Given the description of an element on the screen output the (x, y) to click on. 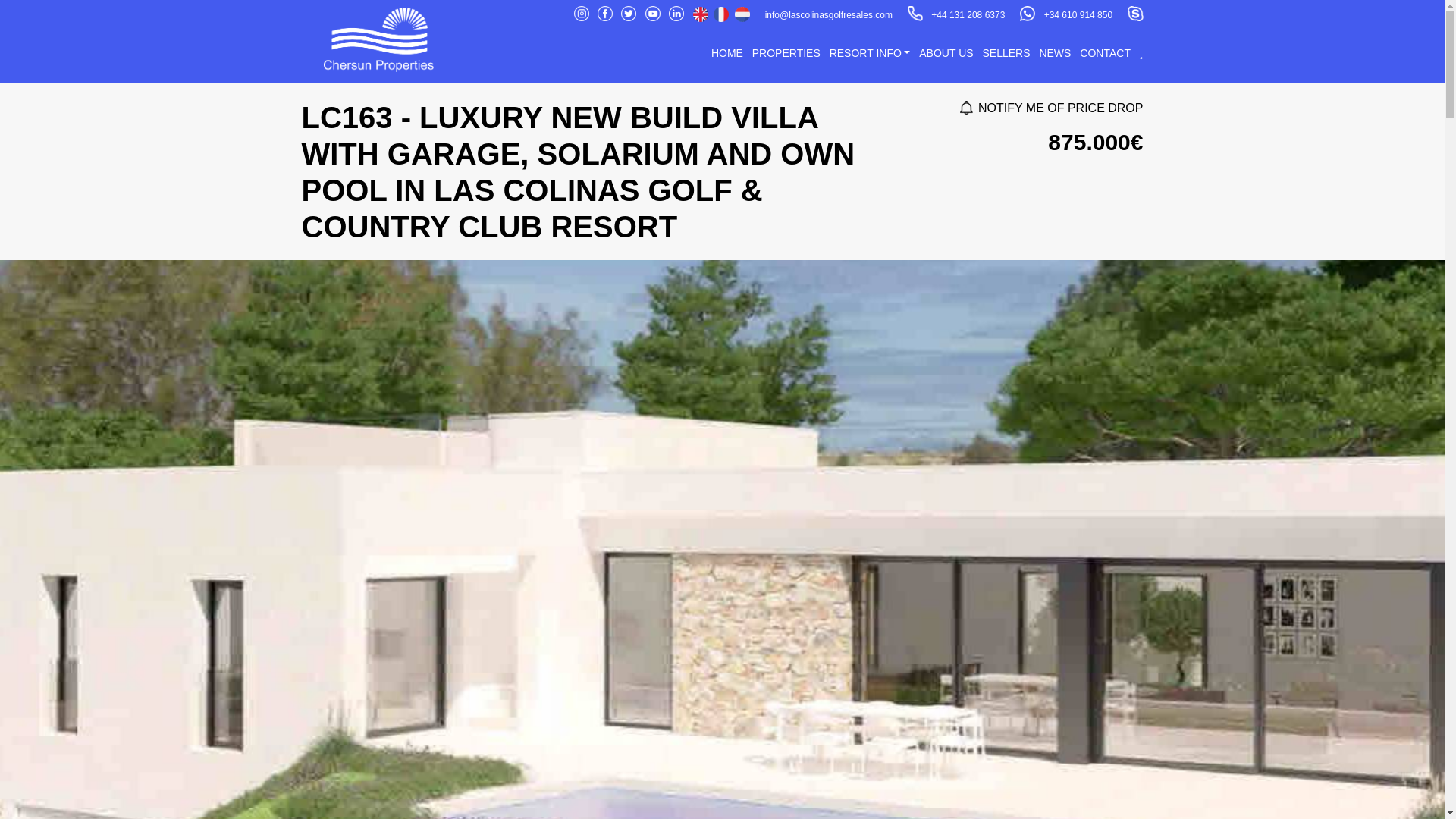
PROPERTIES (786, 52)
Las Colinas Golf Resales (379, 39)
RESORT INFO (870, 52)
Dutch (742, 14)
Skype (1134, 14)
Youtube (655, 14)
NEWS (1054, 52)
SELLERS (1005, 52)
HOME (726, 52)
ABOUT US (945, 52)
